Given the description of an element on the screen output the (x, y) to click on. 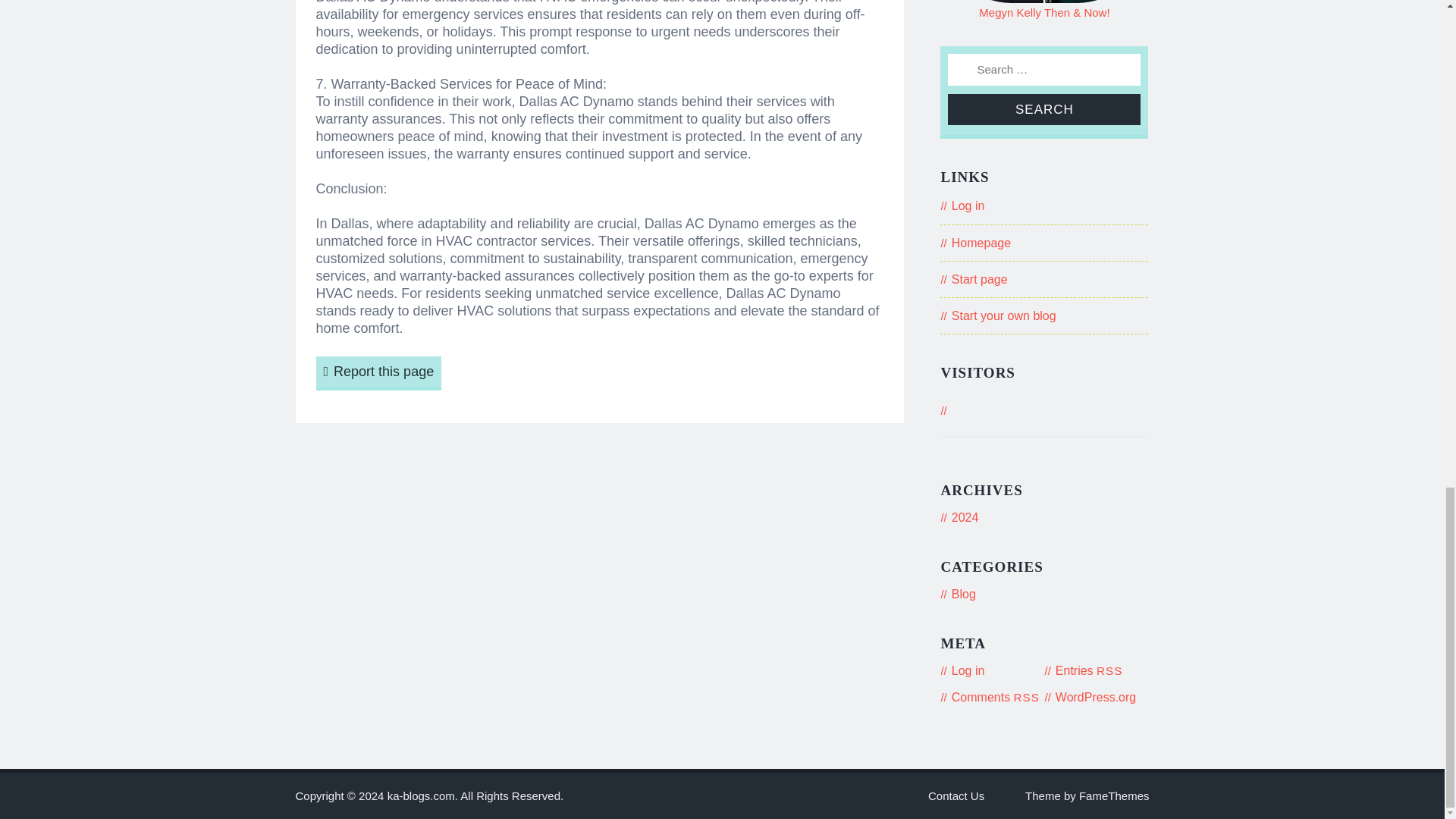
2024 (965, 517)
Search (1043, 109)
Comments RSS (995, 697)
Really Simple Syndication (1026, 697)
Blog (963, 594)
Search (1043, 109)
Report this page (378, 373)
Really Simple Syndication (1109, 670)
Start page (979, 278)
Entries RSS (1088, 670)
